Given the description of an element on the screen output the (x, y) to click on. 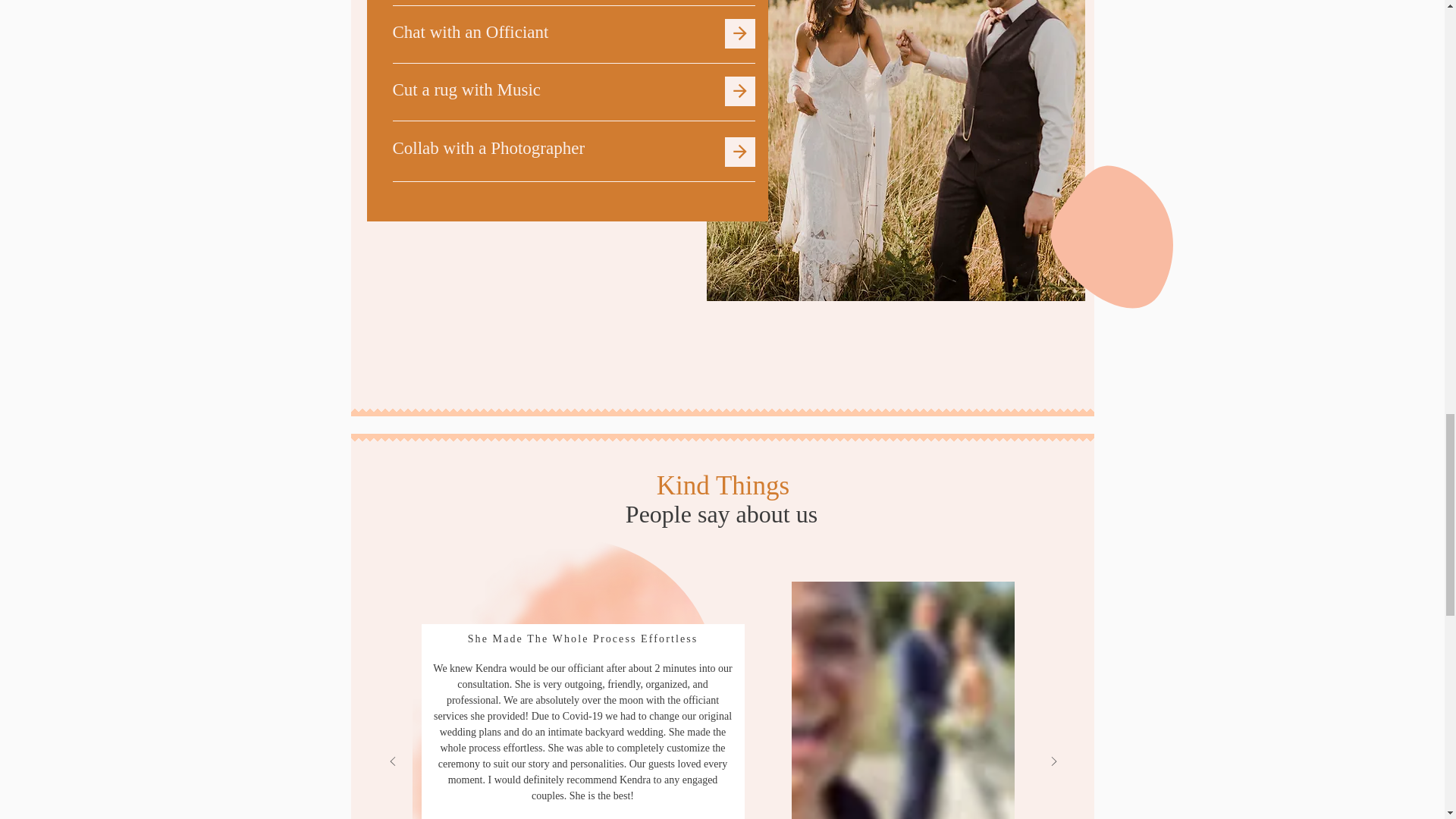
KEndra.JPG (903, 700)
Cut a rug with Music (467, 89)
Chat with an Officiant (470, 31)
Collab with a Photographer (489, 148)
